Given the description of an element on the screen output the (x, y) to click on. 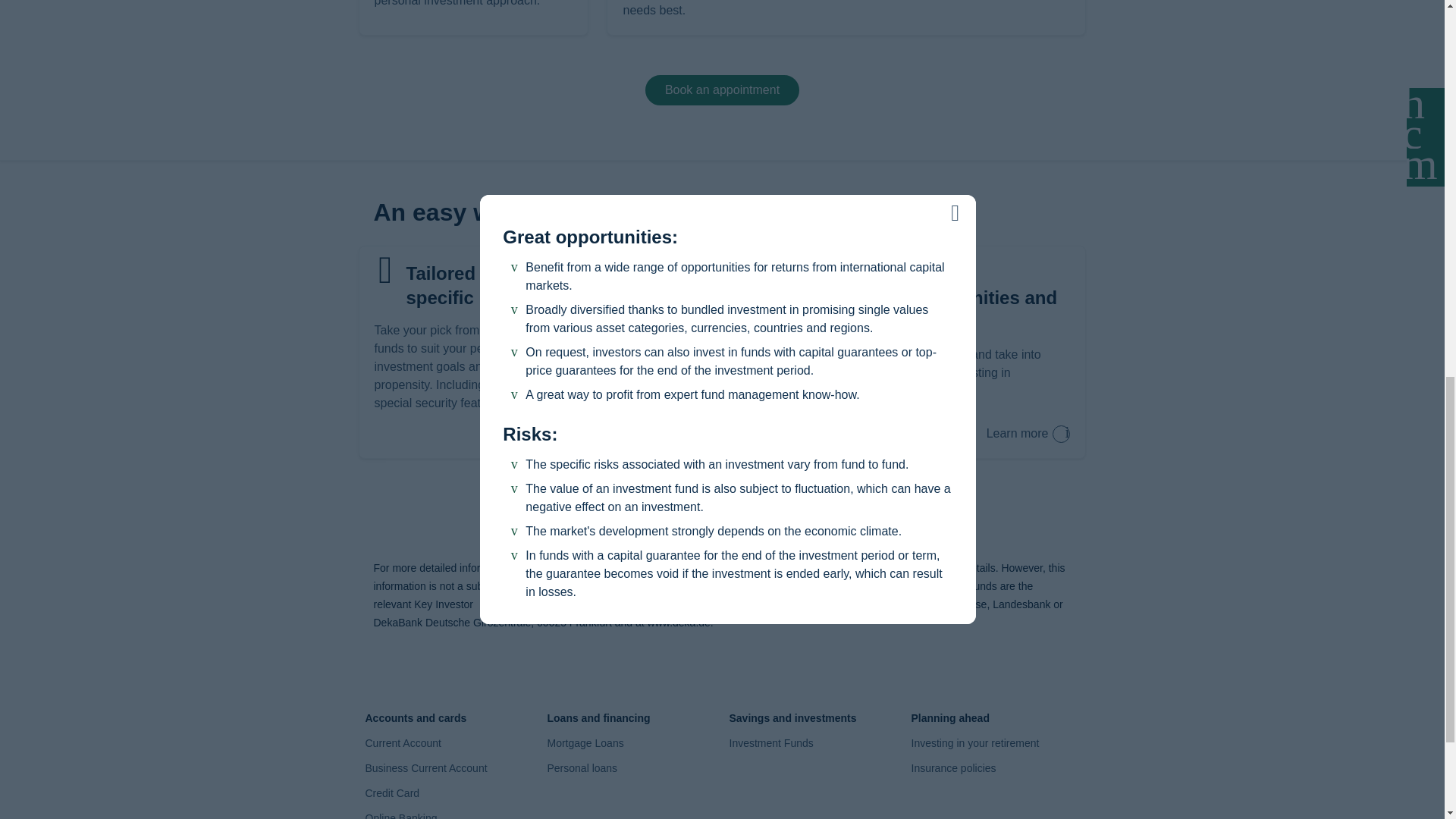
Learn more (1028, 434)
Current Account (403, 743)
Book an appointment (722, 512)
Business Current Account (426, 767)
Book an appointment (722, 512)
Book an appointment (722, 90)
Learn more (1028, 434)
Book an appointment (722, 90)
